Given the description of an element on the screen output the (x, y) to click on. 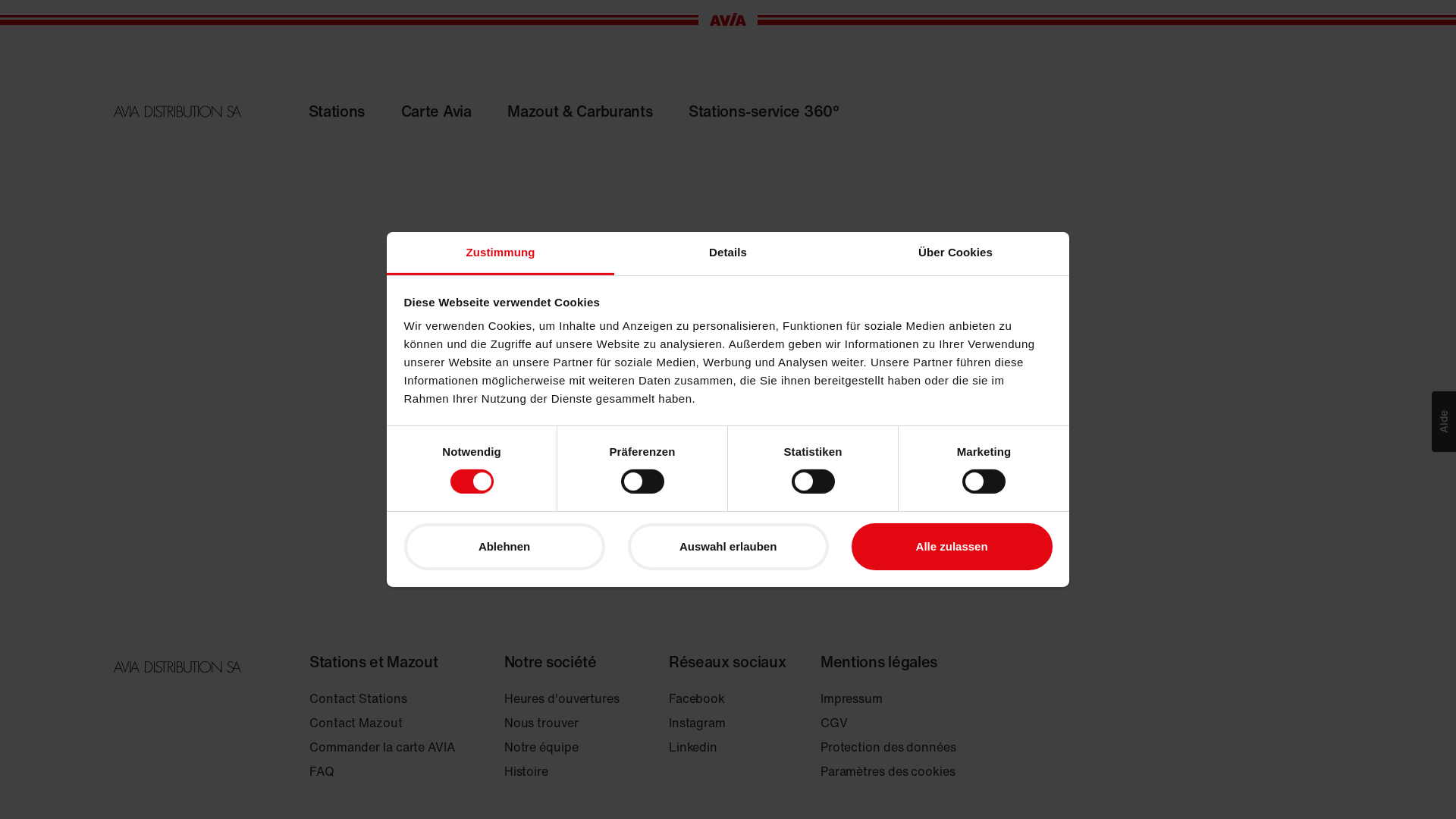
Instagram Element type: text (719, 722)
Stations Element type: text (352, 111)
Mazout & Carburants Element type: text (596, 111)
Facebook Element type: text (719, 698)
Auswahl erlauben Element type: text (727, 546)
Details Element type: text (727, 253)
Histoire Element type: text (561, 771)
Contact Stations Element type: text (382, 698)
Contact Mazout Element type: text (382, 722)
Zustimmung Element type: text (500, 253)
FAQ Element type: text (382, 771)
Linkedin Element type: text (719, 746)
Carte Avia Element type: text (451, 111)
Nous trouver Element type: text (561, 722)
Impressum Element type: text (888, 698)
Alle zulassen Element type: text (951, 546)
CGV Element type: text (888, 722)
Ablehnen Element type: text (503, 546)
Commander la carte AVIA Element type: text (382, 746)
Heures d'ouvertures Element type: text (561, 698)
Stations et Mazout Element type: text (373, 661)
